Given the description of an element on the screen output the (x, y) to click on. 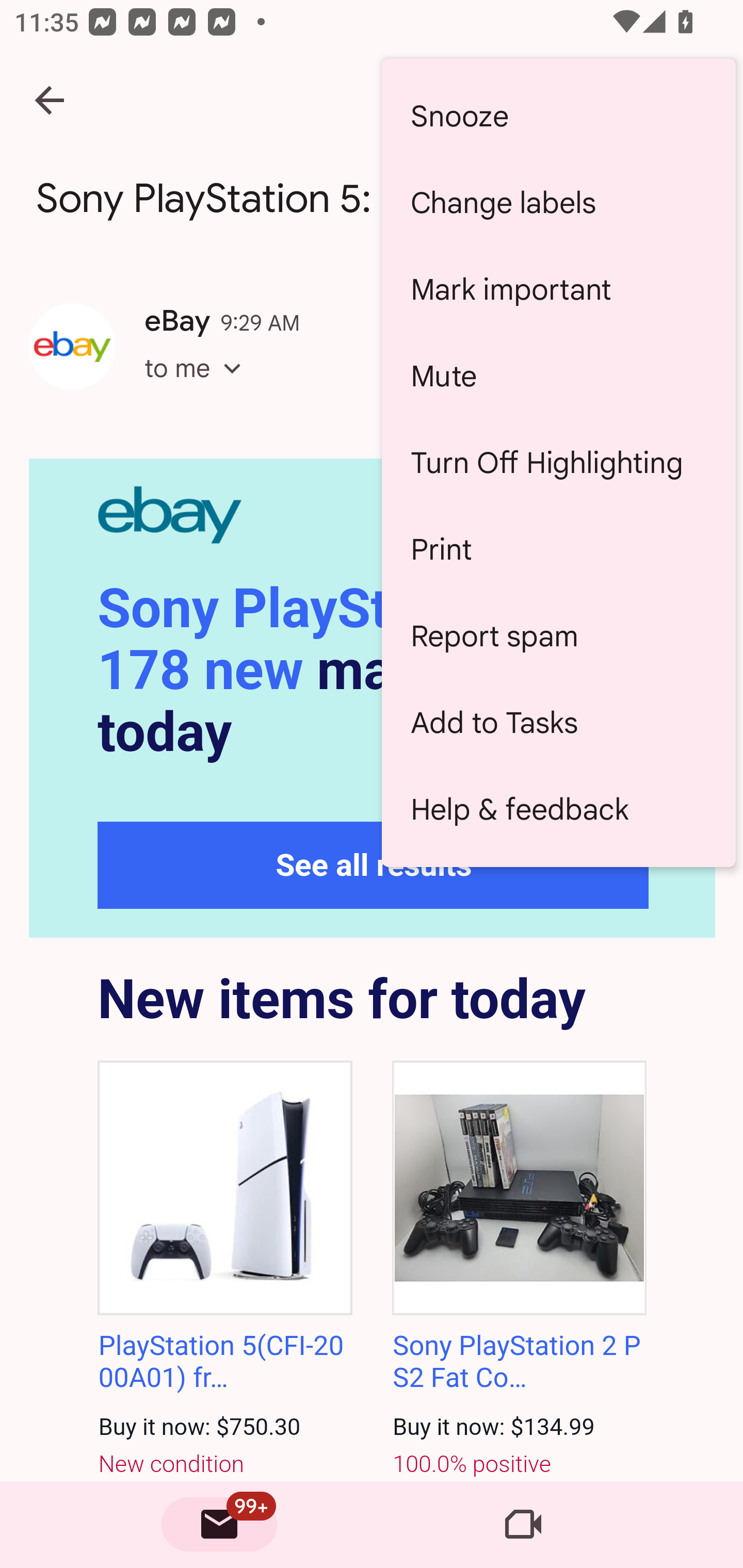
Snooze (558, 115)
Change labels (558, 202)
Mark important (558, 289)
Mute (558, 375)
Turn Off Highlighting (558, 462)
Print (558, 549)
Report spam (558, 635)
Add to Tasks (558, 721)
Help & feedback (558, 808)
